Given the description of an element on the screen output the (x, y) to click on. 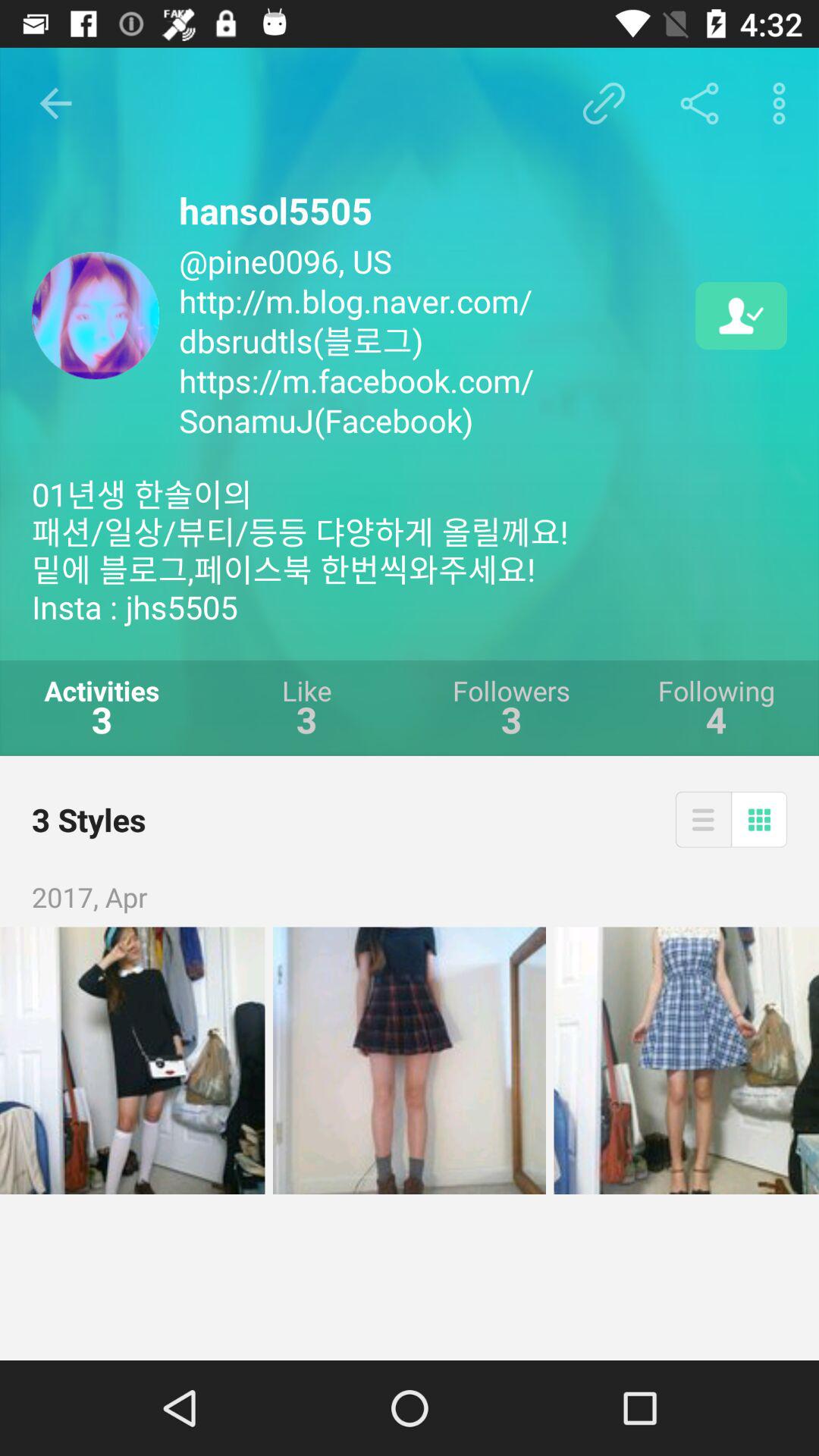
change view for images (702, 819)
